Given the description of an element on the screen output the (x, y) to click on. 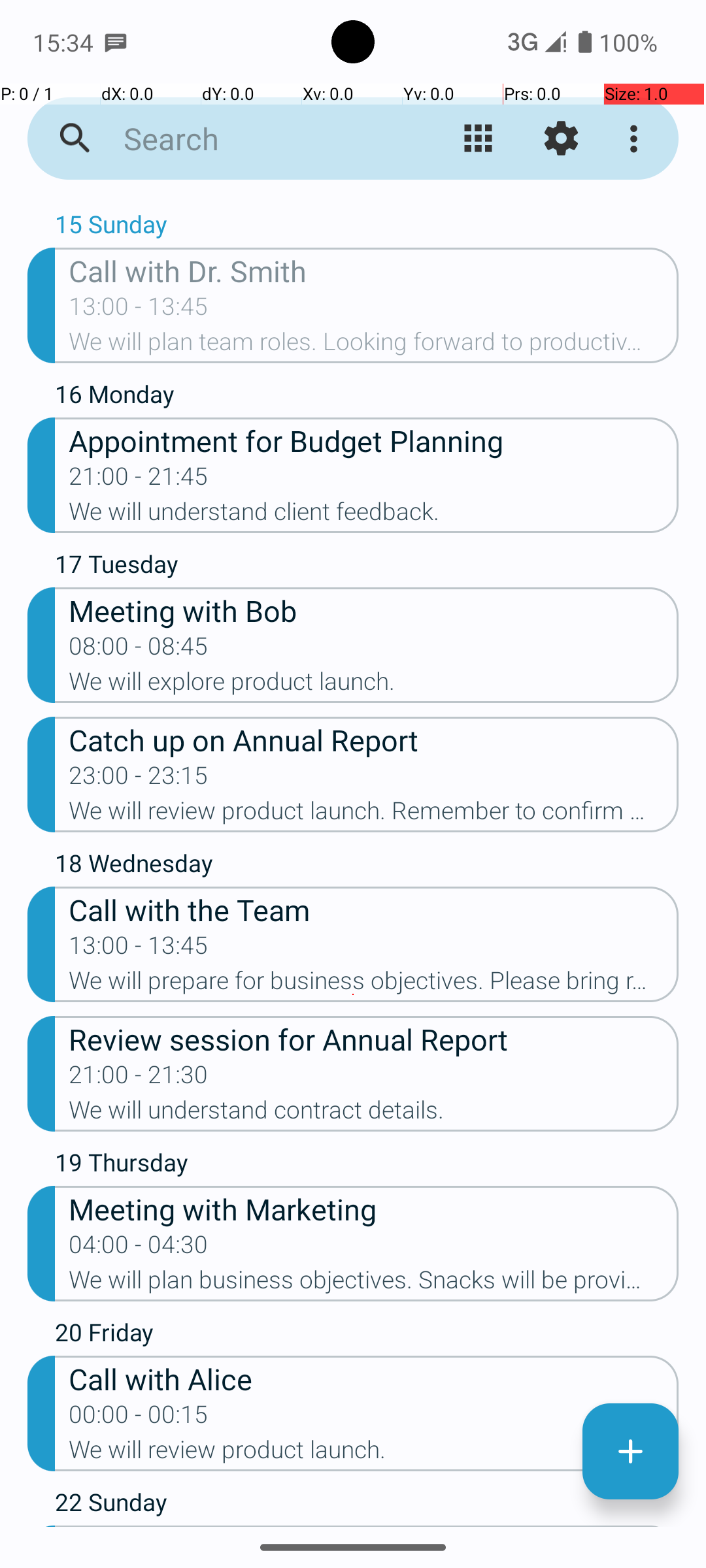
OCTOBER Element type: android.widget.TextView (353, 200)
15 Sunday Element type: android.widget.TextView (366, 227)
16 Monday Element type: android.widget.TextView (366, 396)
17 Tuesday Element type: android.widget.TextView (366, 566)
18 Wednesday Element type: android.widget.TextView (366, 866)
19 Thursday Element type: android.widget.TextView (366, 1165)
20 Friday Element type: android.widget.TextView (366, 1335)
22 Sunday Element type: android.widget.TextView (366, 1505)
Call with Dr. Smith Element type: android.widget.TextView (373, 269)
13:00 - 13:45 Element type: android.widget.TextView (137, 309)
We will plan team roles. Looking forward to productive discussions. Element type: android.widget.TextView (373, 345)
Appointment for Budget Planning Element type: android.widget.TextView (373, 439)
21:00 - 21:45 Element type: android.widget.TextView (137, 479)
We will understand client feedback. Element type: android.widget.TextView (373, 515)
Meeting with Bob Element type: android.widget.TextView (373, 609)
08:00 - 08:45 Element type: android.widget.TextView (137, 649)
We will explore product launch. Element type: android.widget.TextView (373, 684)
Catch up on Annual Report Element type: android.widget.TextView (373, 738)
23:00 - 23:15 Element type: android.widget.TextView (137, 779)
We will review product launch. Remember to confirm attendance. Element type: android.widget.TextView (373, 814)
Call with the Team Element type: android.widget.TextView (373, 908)
We will prepare for business objectives. Please bring relevant documents. Element type: android.widget.TextView (373, 984)
Review session for Annual Report Element type: android.widget.TextView (373, 1038)
21:00 - 21:30 Element type: android.widget.TextView (137, 1078)
We will understand contract details. Element type: android.widget.TextView (373, 1113)
Meeting with Marketing Element type: android.widget.TextView (373, 1207)
04:00 - 04:30 Element type: android.widget.TextView (137, 1248)
We will plan business objectives. Snacks will be provided. Element type: android.widget.TextView (373, 1283)
Call with Alice Element type: android.widget.TextView (373, 1377)
00:00 - 00:15 Element type: android.widget.TextView (137, 1418)
We will review product launch. Element type: android.widget.TextView (373, 1453)
Catch up on Campaign Element type: android.widget.TextView (373, 1525)
